Given the description of an element on the screen output the (x, y) to click on. 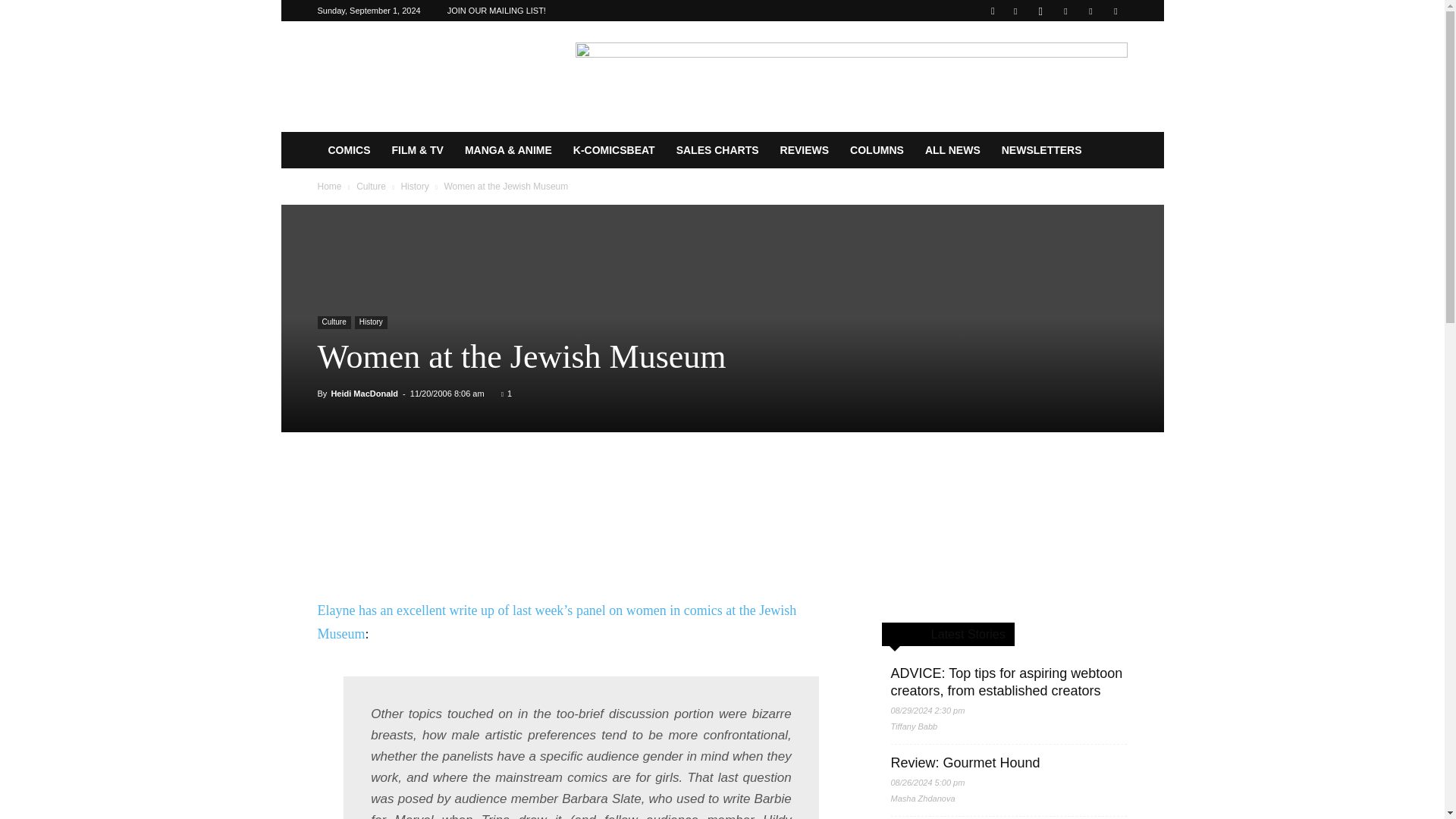
Twitter (1090, 10)
SALES CHARTS (717, 149)
NEWSLETTERS (1042, 149)
View all posts in History (414, 185)
RSS (1065, 10)
Instagram (1040, 10)
View all posts in Culture (370, 185)
Youtube (1114, 10)
Search (1085, 64)
JOIN OUR MAILING LIST! (496, 10)
